Given the description of an element on the screen output the (x, y) to click on. 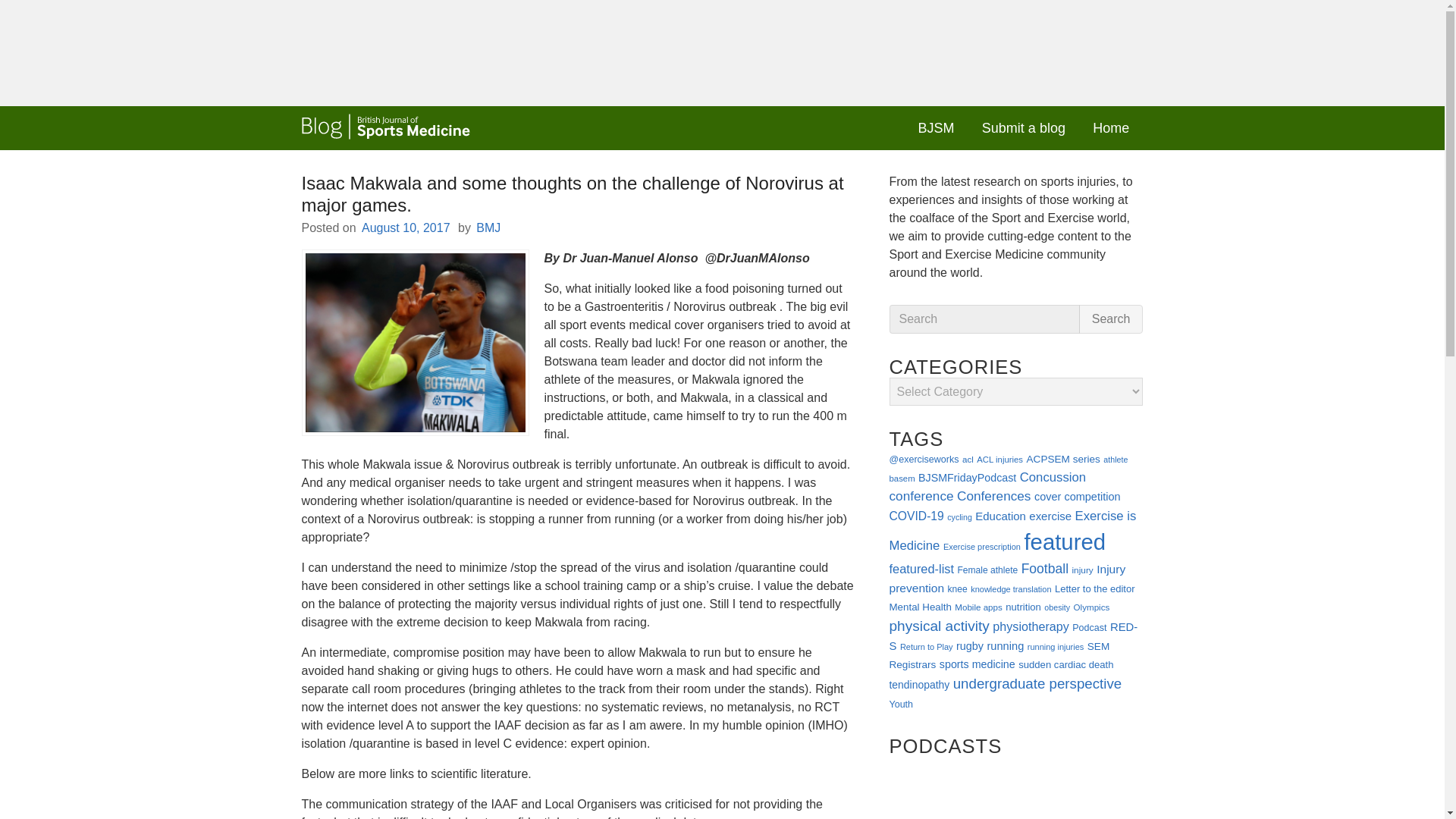
August 10, 2017 (404, 227)
Exercise prescription (981, 546)
BJSM Podcast (1015, 787)
athlete (1114, 459)
acl (968, 459)
Female athlete (987, 570)
Football (1045, 568)
exercise (1050, 515)
Education (1000, 515)
cycling (959, 516)
